Given the description of an element on the screen output the (x, y) to click on. 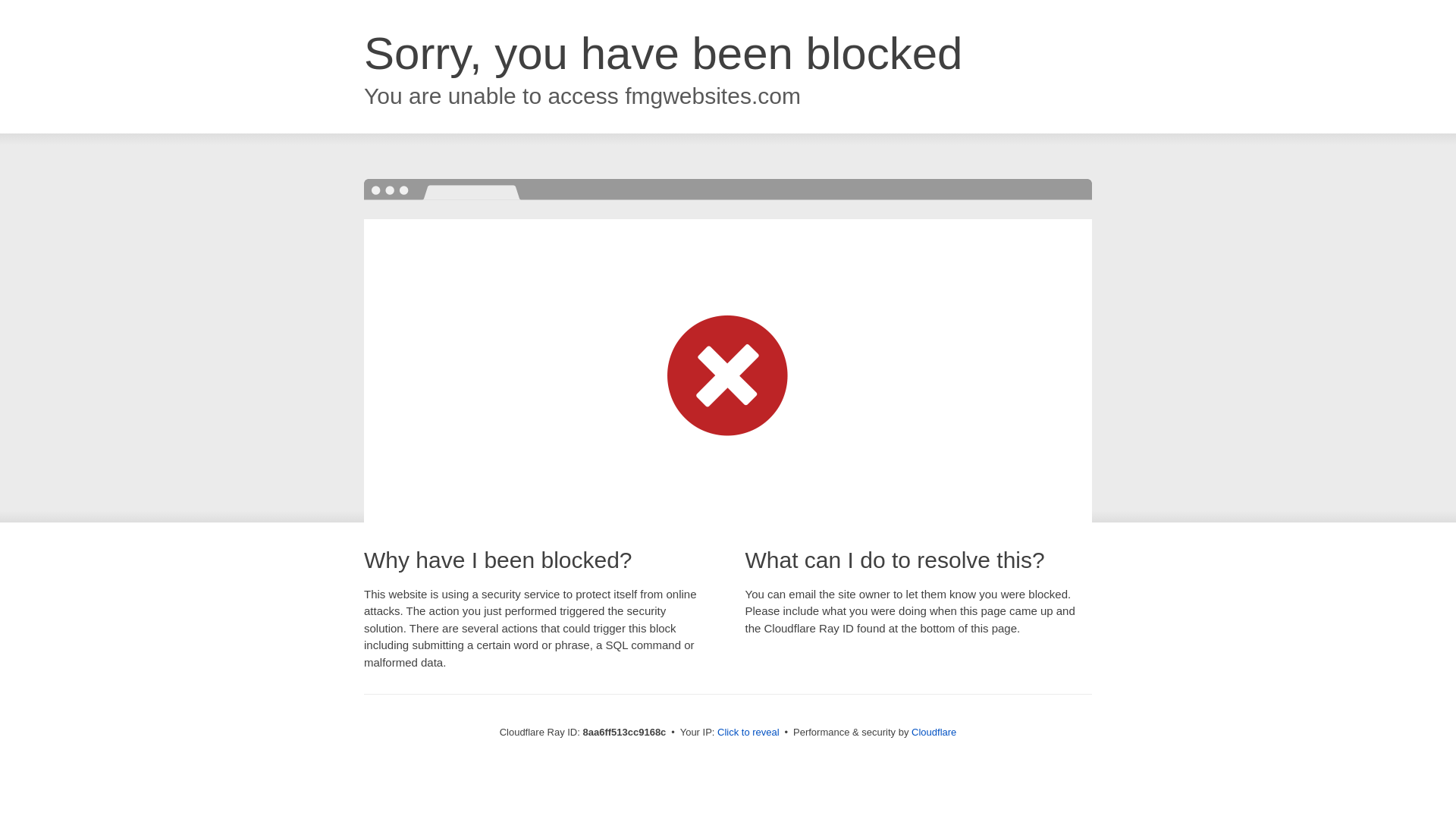
Cloudflare (933, 731)
Click to reveal (747, 732)
